Given the description of an element on the screen output the (x, y) to click on. 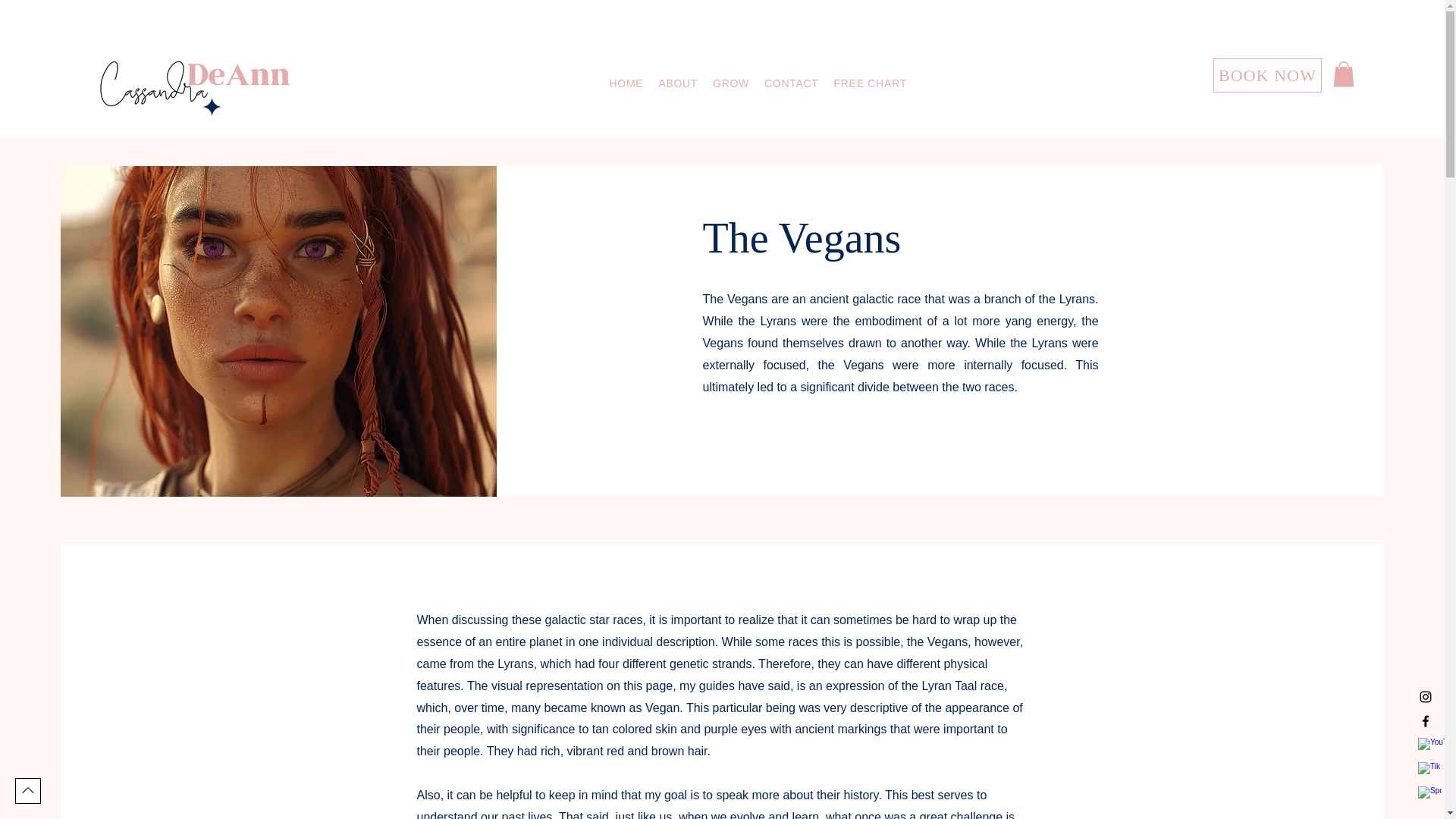
HOME (626, 82)
CONTACT (792, 82)
BOOK NOW (1267, 75)
ABOUT (677, 82)
FREE CHART (757, 82)
